Given the description of an element on the screen output the (x, y) to click on. 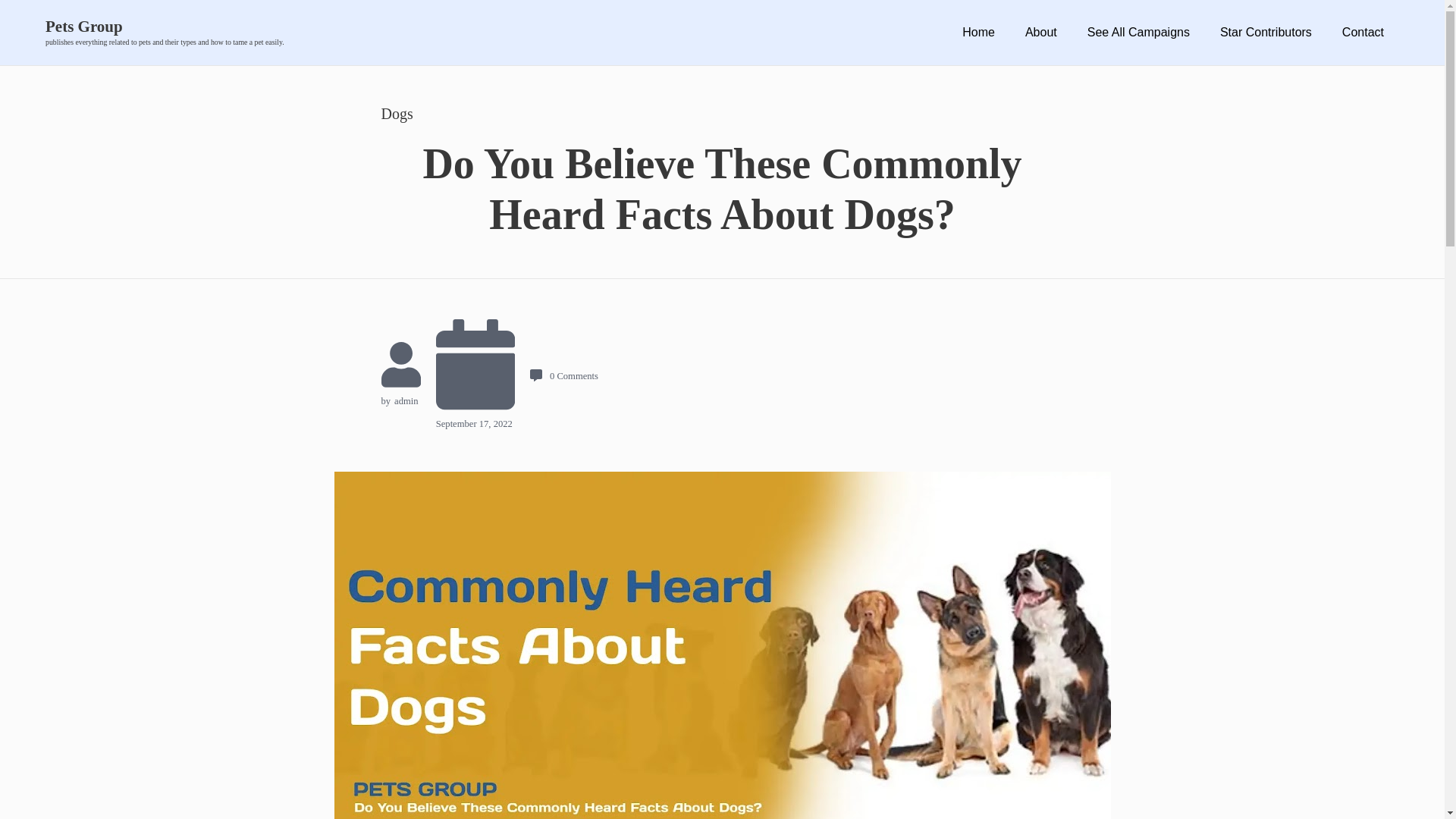
See All Campaigns (1138, 32)
Home (978, 32)
Pets Group (164, 26)
Posts by admin (405, 400)
admin (405, 400)
Dogs (396, 113)
Contact (1362, 32)
Pets Group (164, 26)
About (1040, 32)
